Given the description of an element on the screen output the (x, y) to click on. 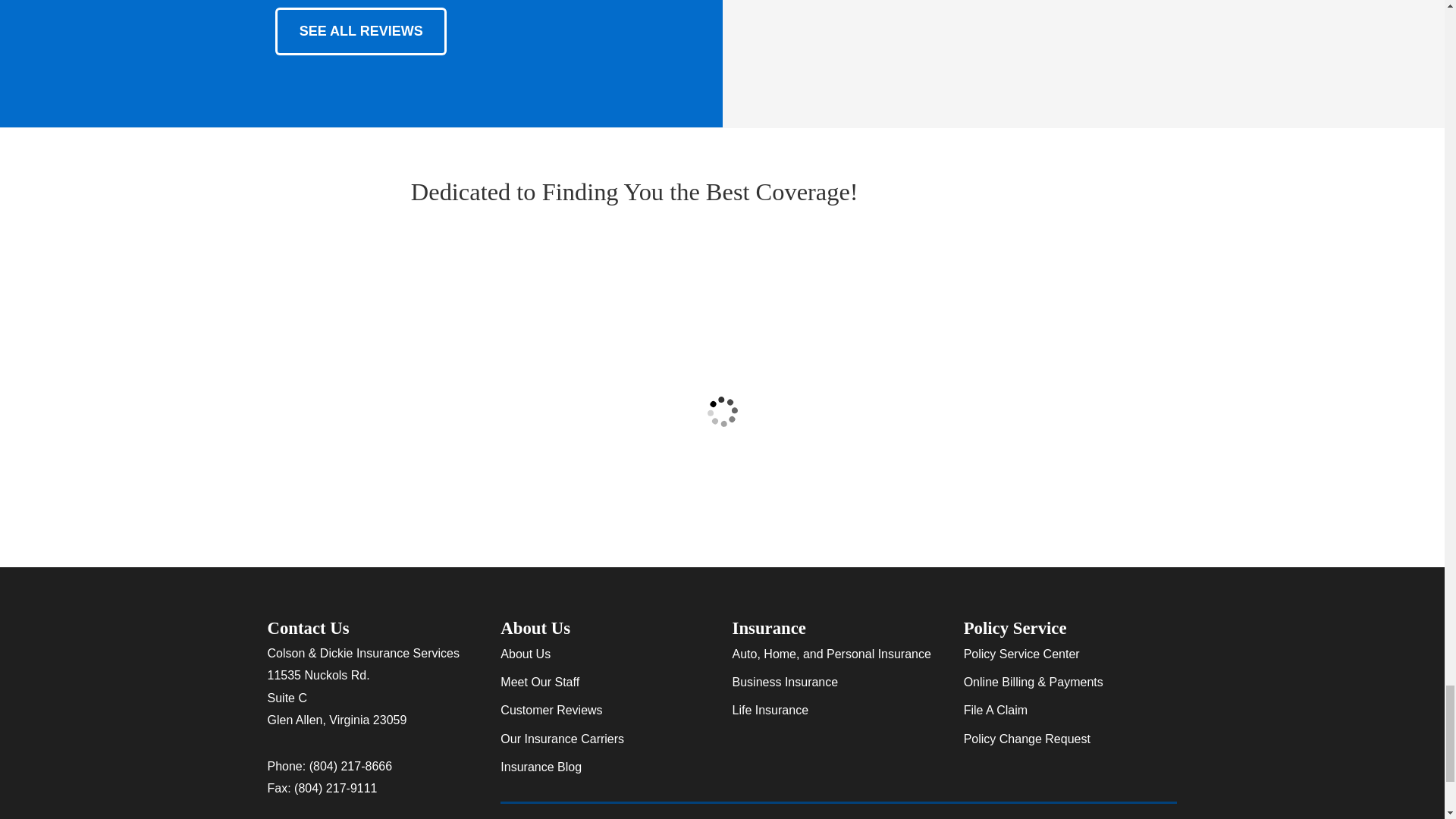
Colson and Dickie Insurance Agency, Glen Allen (957, 192)
